Given the description of an element on the screen output the (x, y) to click on. 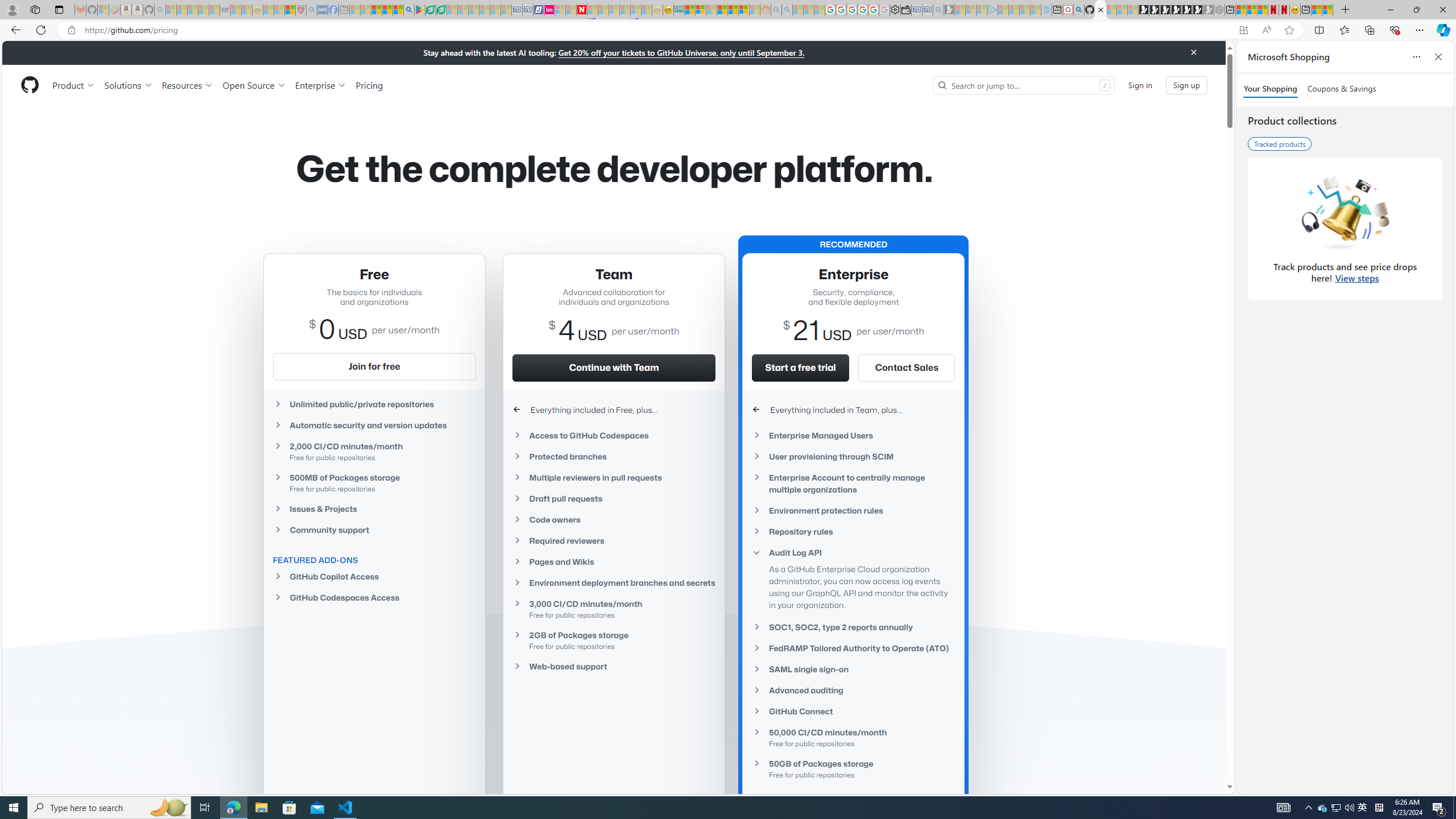
Pricing (368, 84)
GitHub Copilot Access (374, 576)
Product (74, 84)
Solutions (128, 84)
Automatic security and version updates (374, 425)
GitHub Codespaces Access (374, 597)
Bluey: Let's Play! - Apps on Google Play (419, 9)
Enterprise (319, 84)
Unlimited public/private repositories (374, 404)
